Given the description of an element on the screen output the (x, y) to click on. 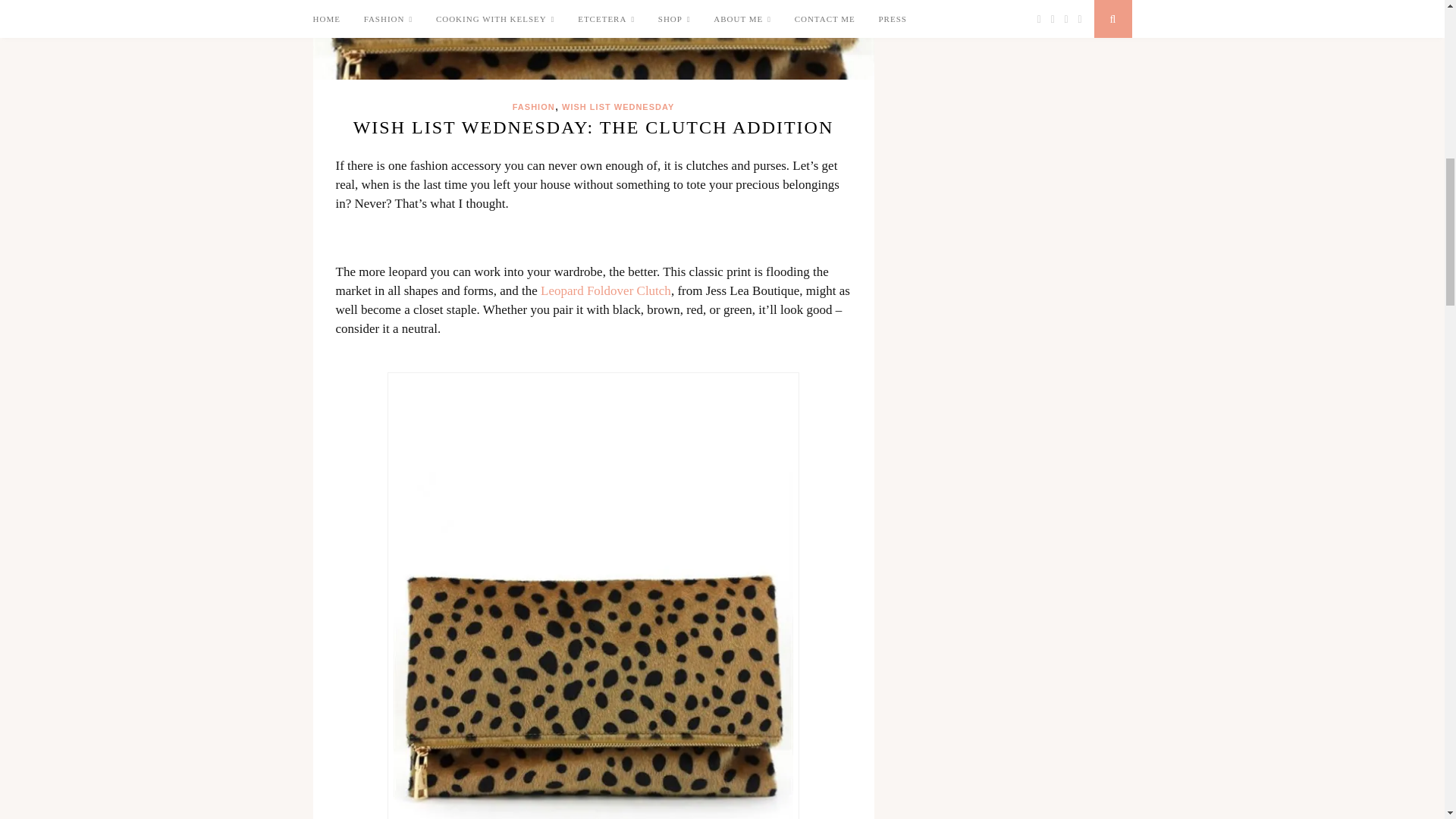
Leopard Foldover Clutch (605, 290)
WISH LIST WEDNESDAY (618, 106)
FASHION (533, 106)
